Given the description of an element on the screen output the (x, y) to click on. 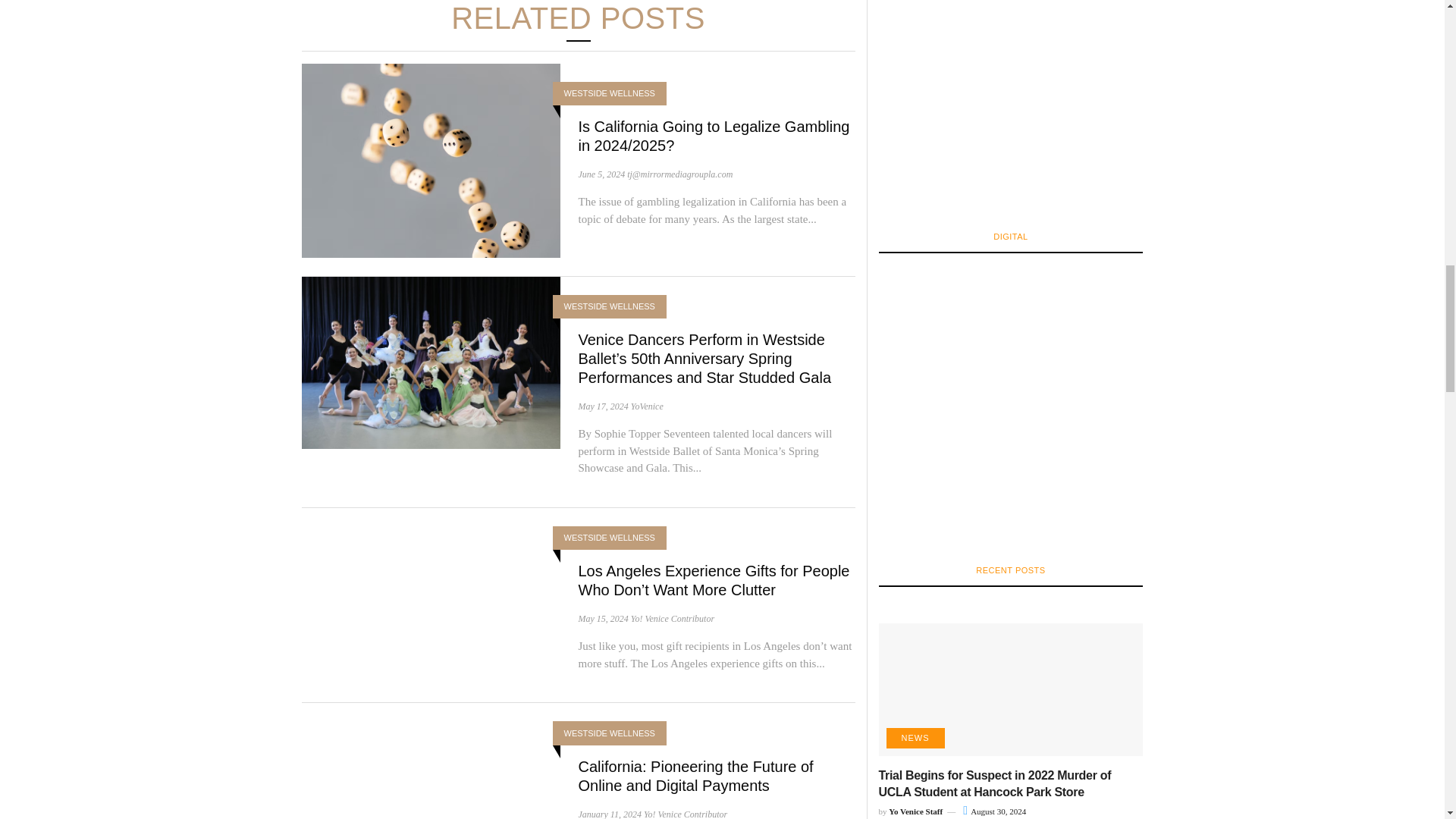
Posts by Yo! Venice Contributor (672, 618)
WESTSIDE WELLNESS (609, 92)
Posts by YoVenice (646, 406)
Posts by Yo! Venice Contributor (684, 814)
